Given the description of an element on the screen output the (x, y) to click on. 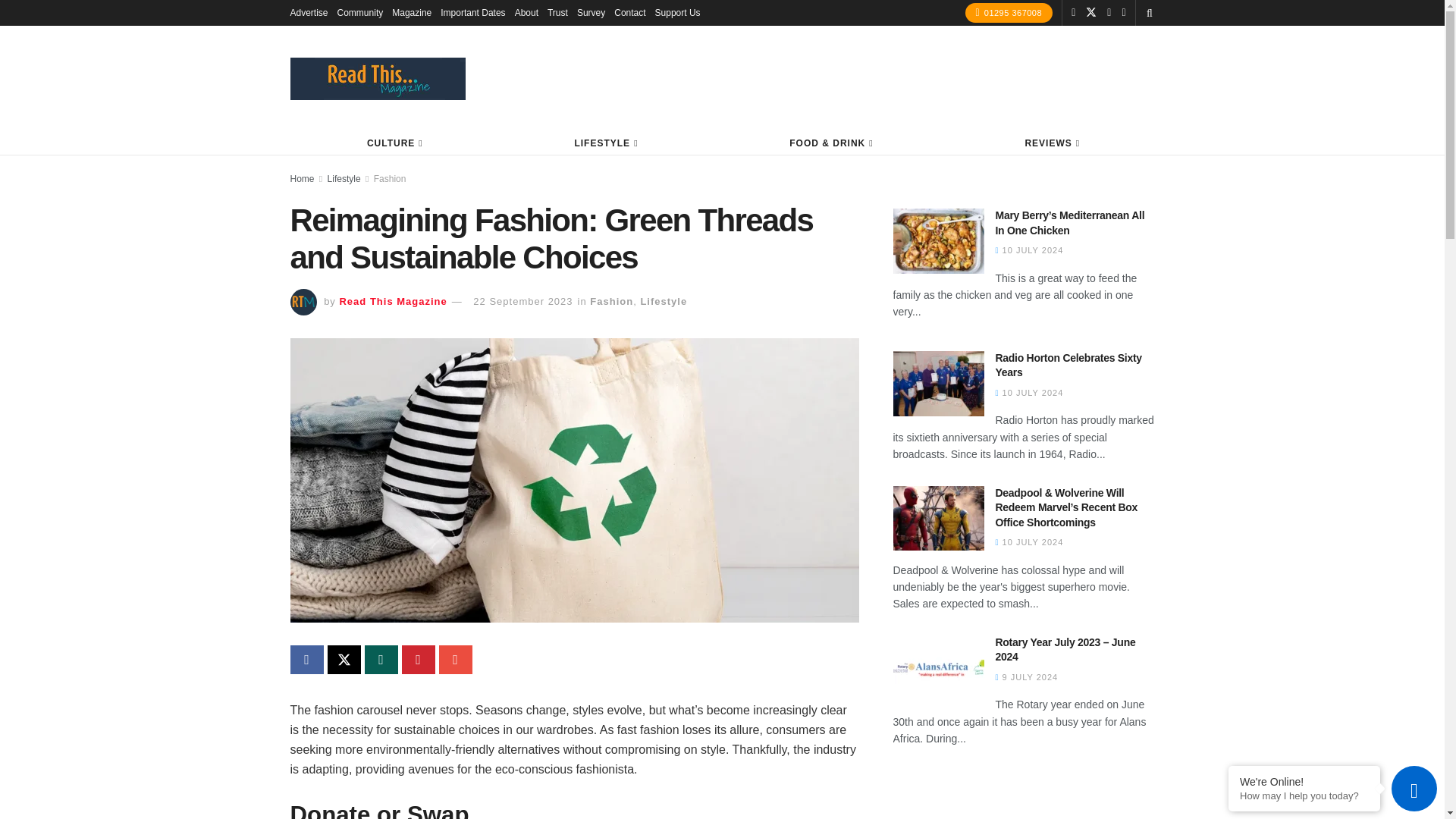
Contact (629, 12)
How may I help you today? (1304, 795)
We're Online! (1304, 781)
Read This Magazine (392, 301)
Lifestyle (663, 301)
Fashion (611, 301)
Home (301, 178)
Survey (590, 12)
Lifestyle (344, 178)
Magazine (410, 12)
About (526, 12)
Support Us (677, 12)
LIFESTYLE (605, 142)
CULTURE (393, 142)
01295 367008 (1008, 12)
